Given the description of an element on the screen output the (x, y) to click on. 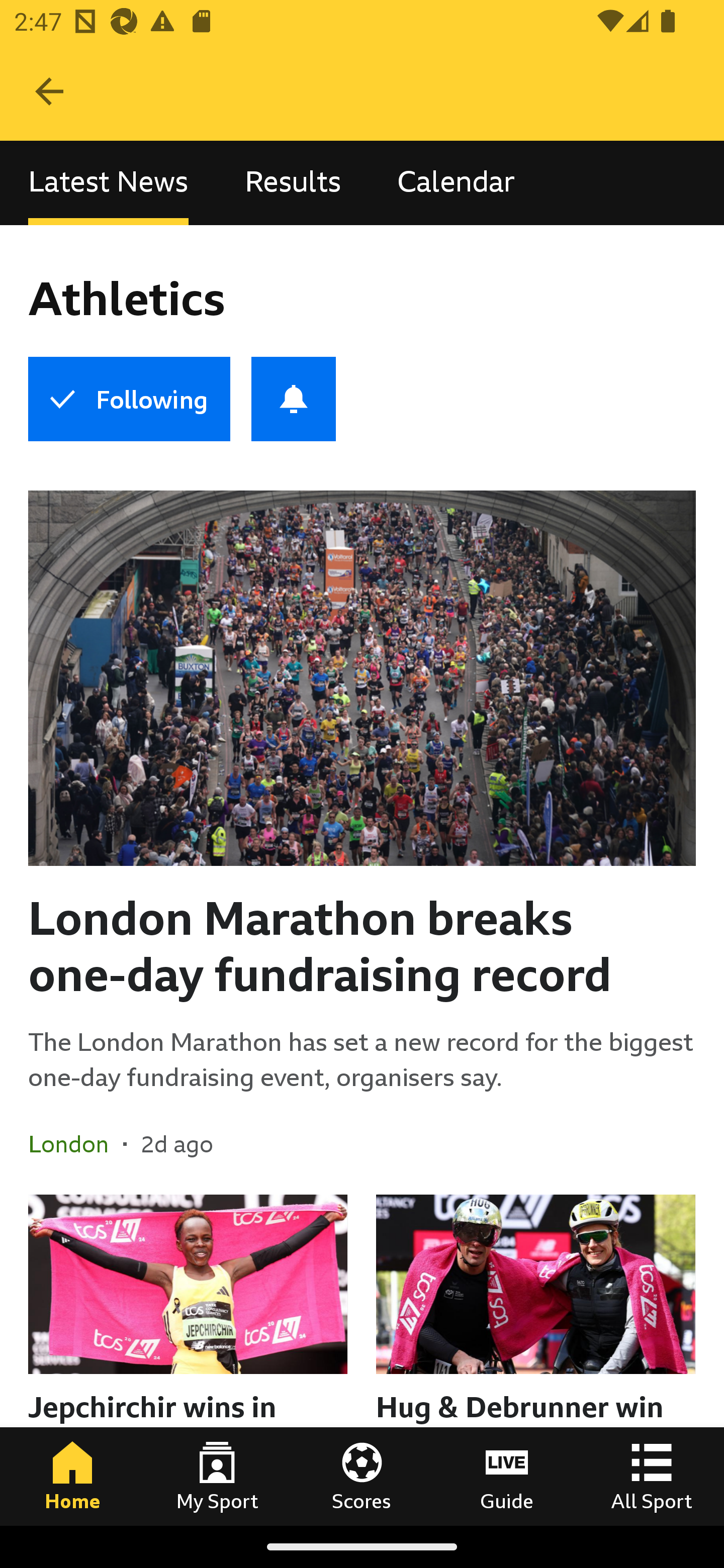
Navigate up (49, 91)
Latest News, selected Latest News (108, 183)
Results (292, 183)
Calendar (456, 183)
Following Athletics Following (129, 398)
Push notifications for Athletics (293, 398)
London In the section London (75, 1143)
My Sport (216, 1475)
Scores (361, 1475)
Guide (506, 1475)
All Sport (651, 1475)
